Given the description of an element on the screen output the (x, y) to click on. 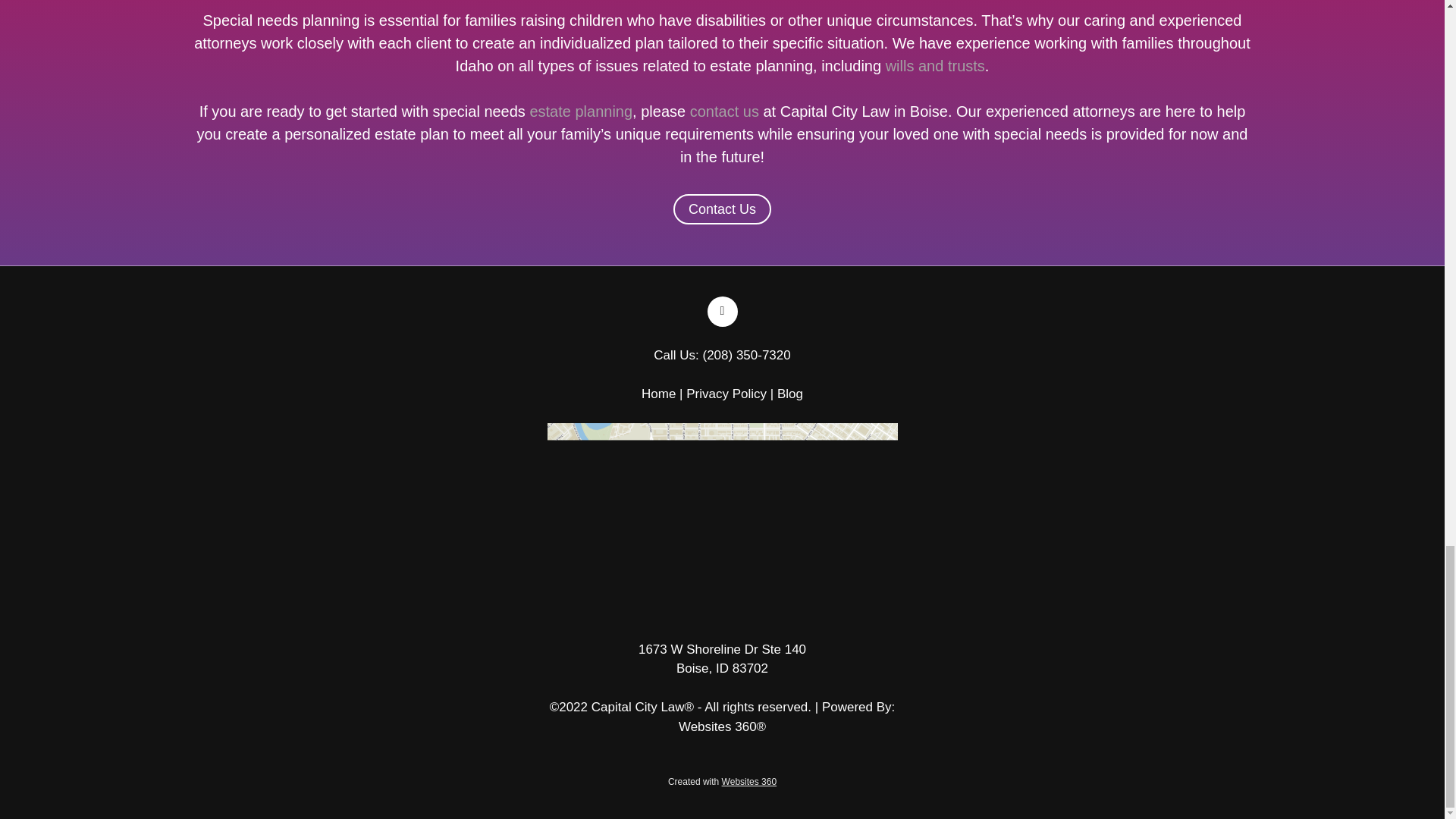
estate planning (580, 111)
Contact Us (721, 209)
Home (660, 393)
contact us (724, 111)
wills and trusts (935, 65)
